Given the description of an element on the screen output the (x, y) to click on. 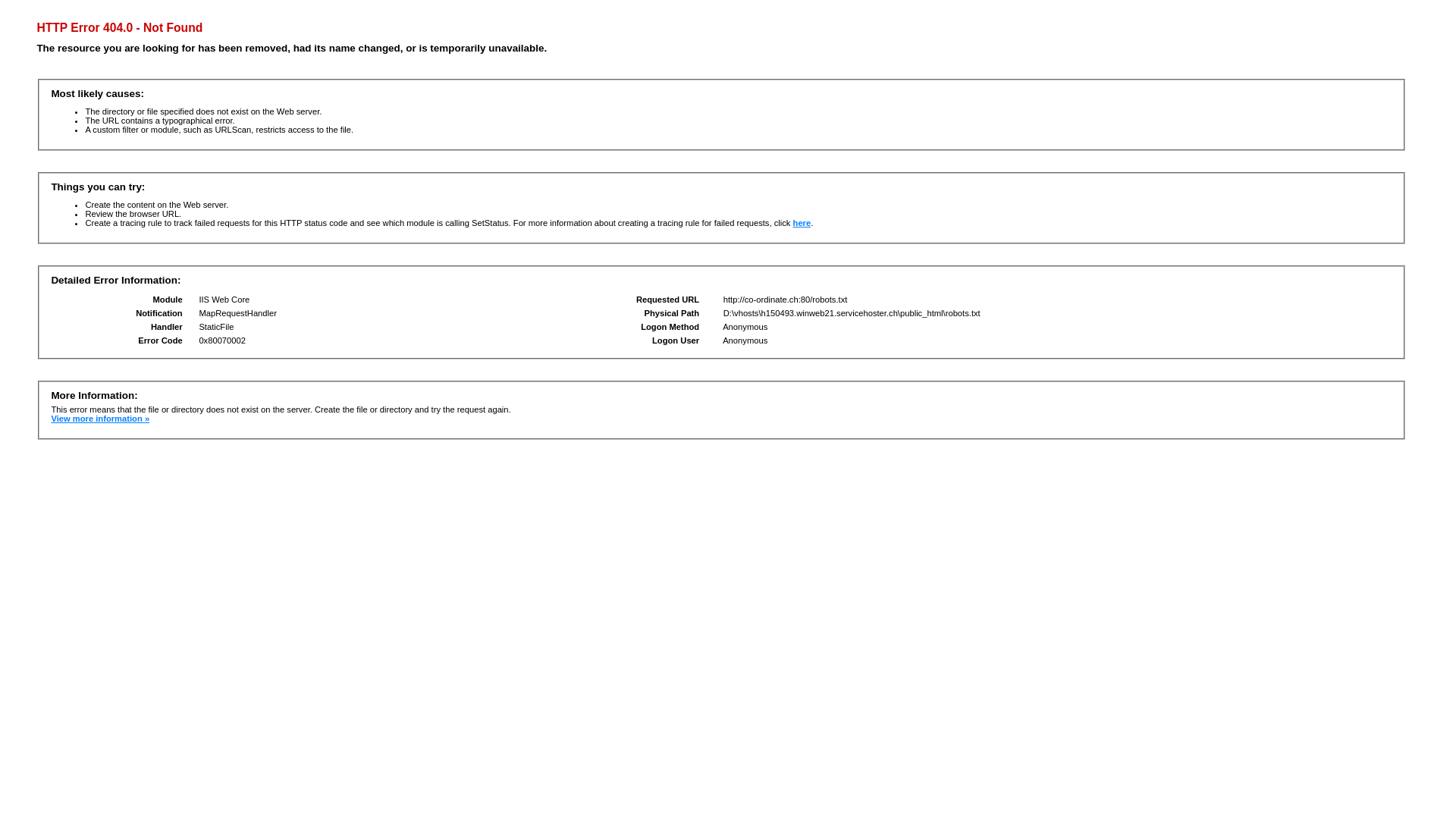
here Element type: text (802, 222)
